Given the description of an element on the screen output the (x, y) to click on. 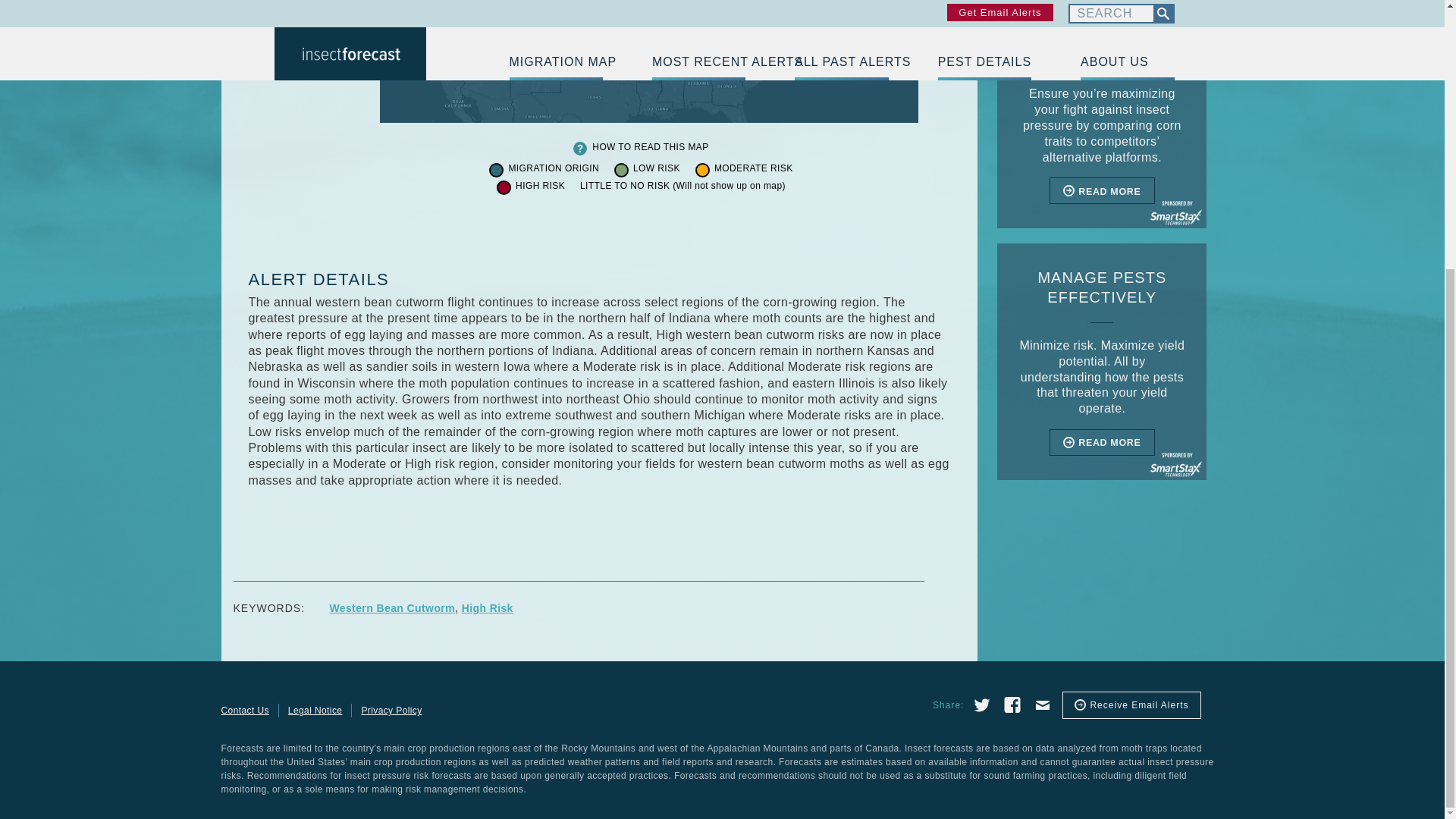
HIGH RISK (539, 186)
MODERATE RISK (753, 168)
HOW TO READ THIS MAP (649, 147)
Legal Notice (315, 710)
MIGRATION ORIGIN (553, 168)
Corn Trait Comparison Tool (1102, 114)
Western Bean Cutworm (391, 607)
Privacy Policy (391, 710)
Privacy Policy (391, 710)
High Risk (487, 607)
